Given the description of an element on the screen output the (x, y) to click on. 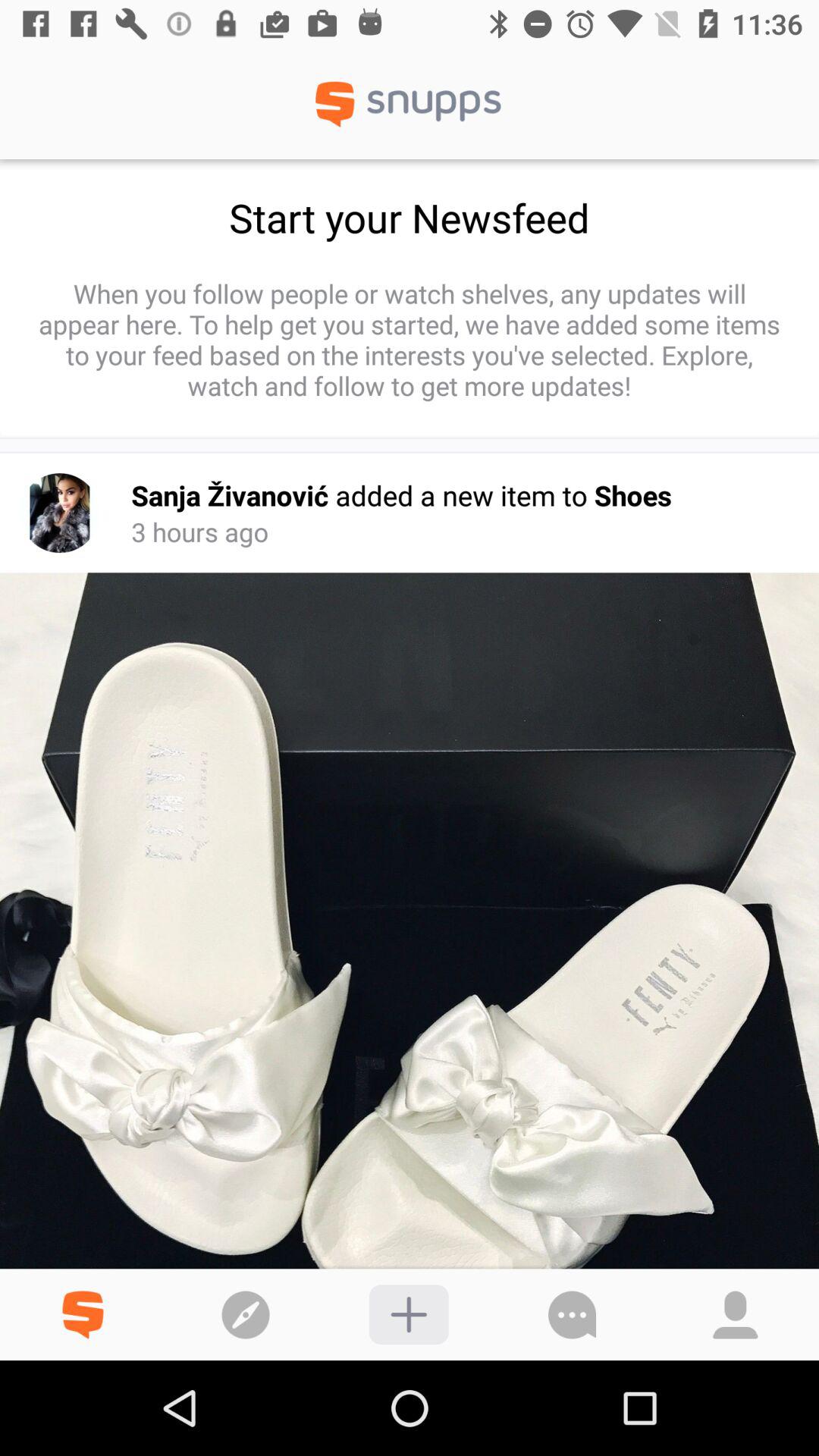
zoom (408, 1314)
